Given the description of an element on the screen output the (x, y) to click on. 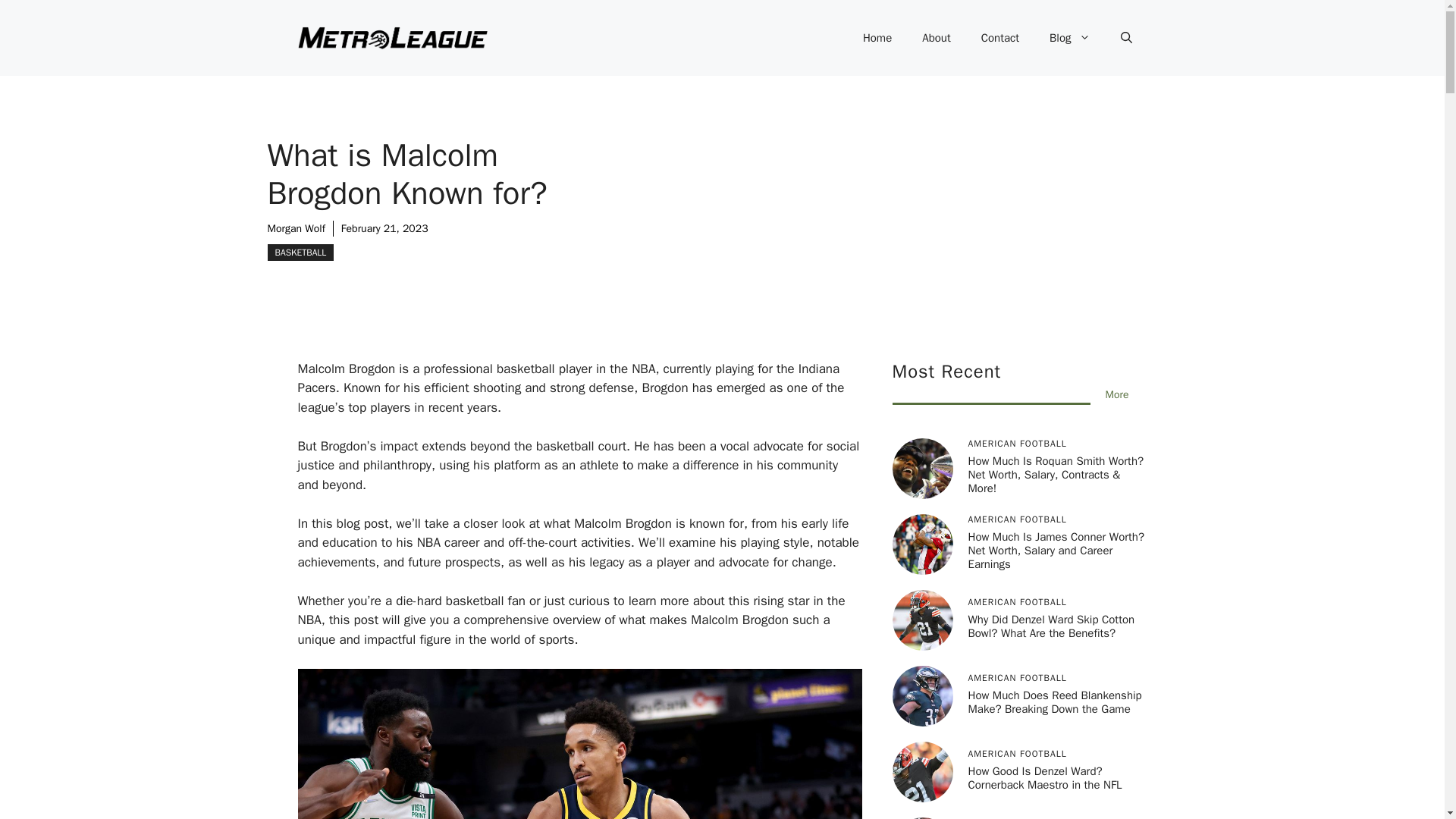
Home (877, 37)
Morgan Wolf (295, 228)
Contact (999, 37)
Blog (1069, 37)
More (1117, 394)
BASKETBALL (299, 252)
About (936, 37)
